Given the description of an element on the screen output the (x, y) to click on. 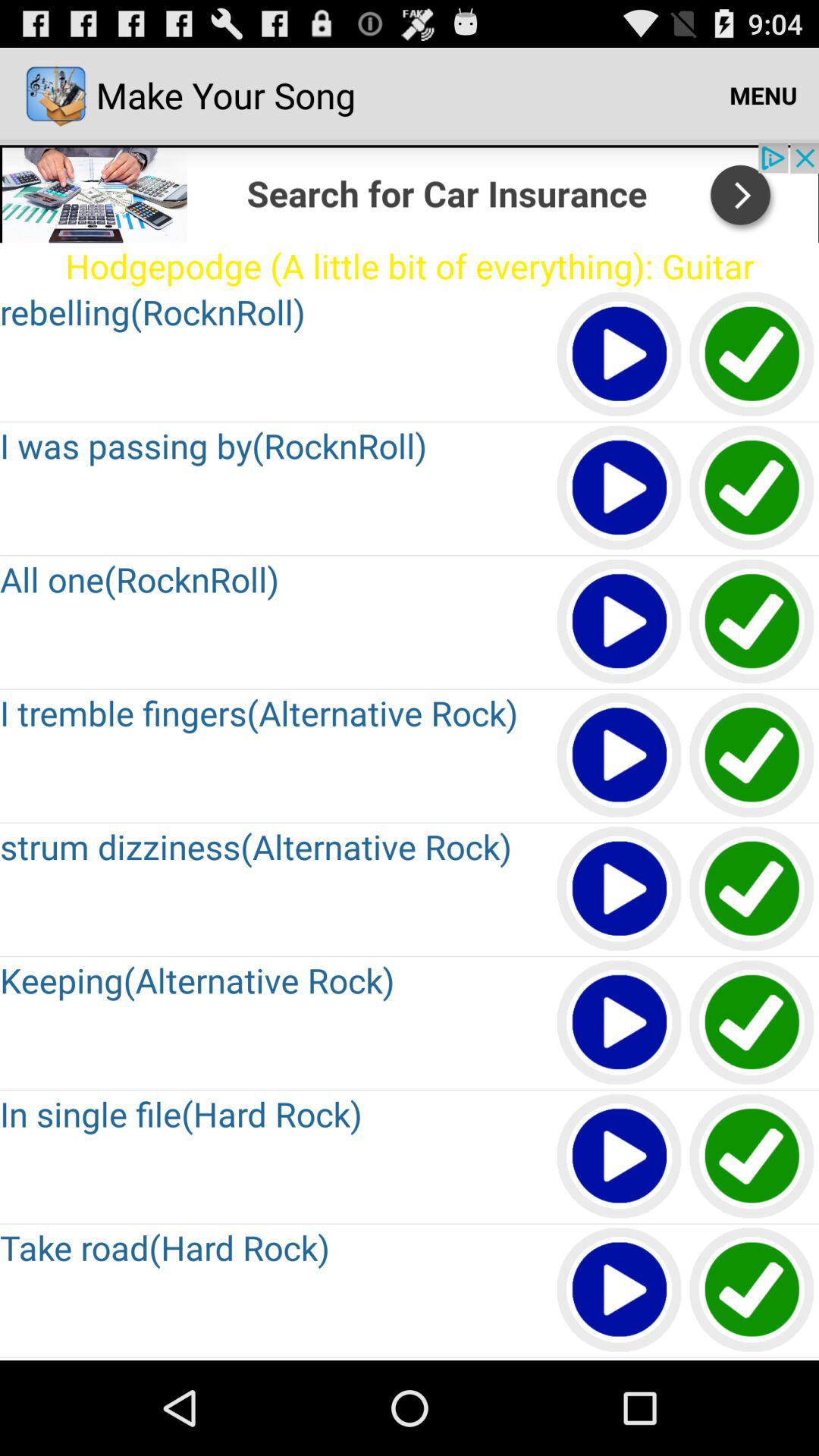
slate (752, 755)
